Given the description of an element on the screen output the (x, y) to click on. 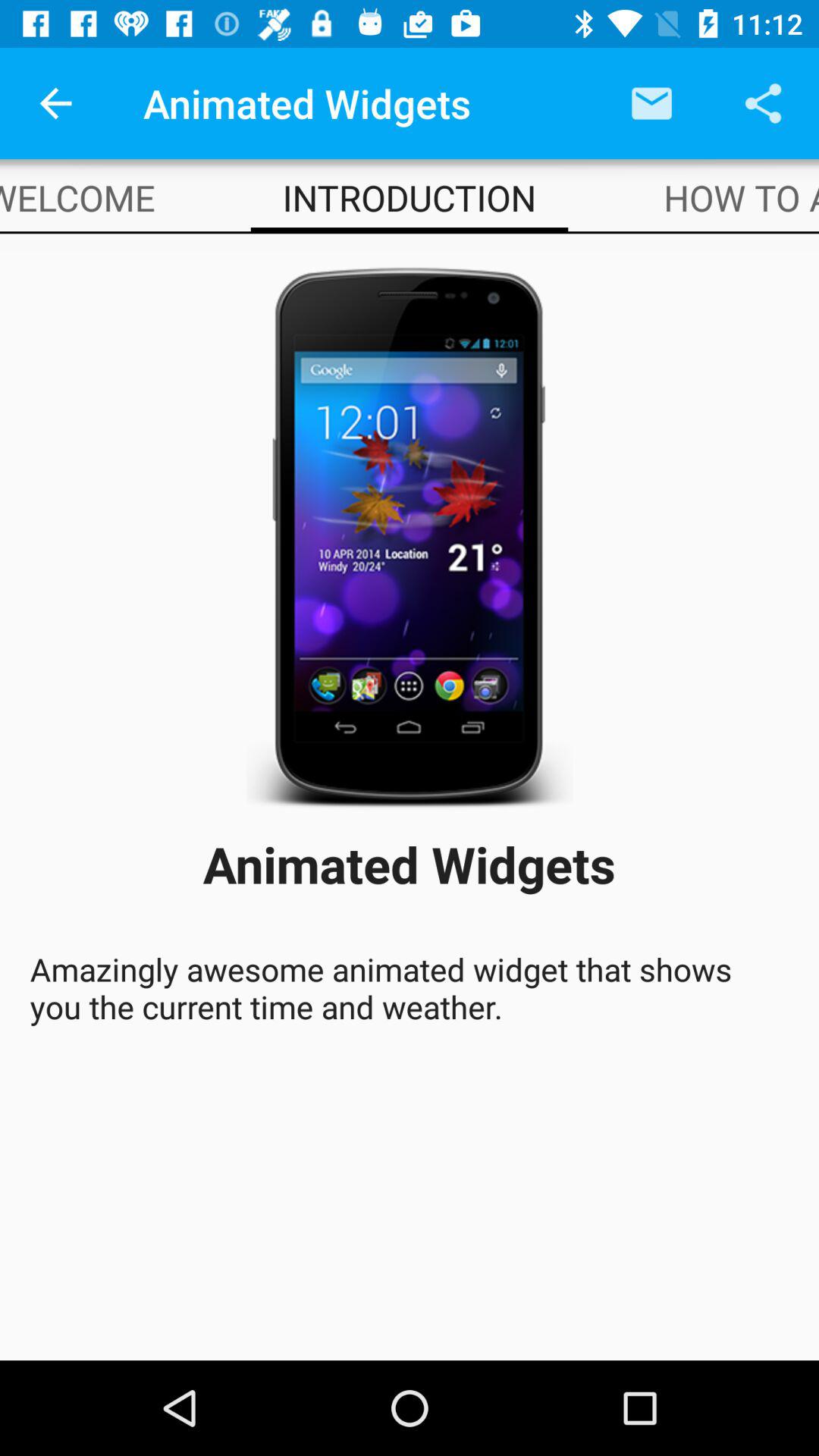
launch the item next to the introduction (741, 197)
